Given the description of an element on the screen output the (x, y) to click on. 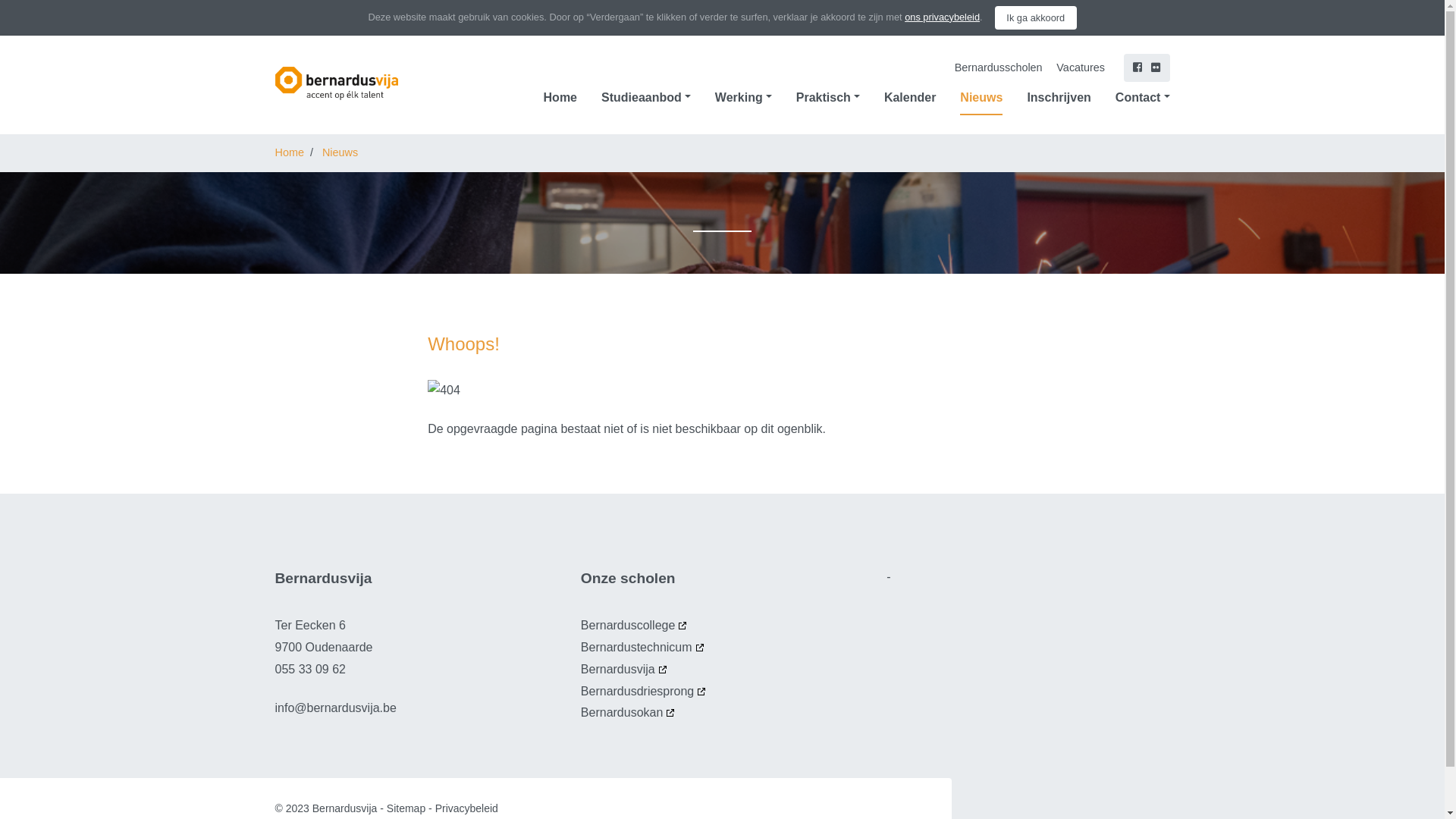
Bernardusdriesprong Element type: text (643, 690)
Bernardusscholen Element type: text (998, 67)
Kalender Element type: text (909, 97)
Bernarduscollege Element type: text (634, 624)
Werking Element type: text (743, 97)
Sitemap Element type: text (405, 808)
Home Element type: text (288, 152)
Home Element type: text (560, 97)
Contact Element type: text (1142, 97)
ons privacybeleid Element type: text (941, 16)
Bernardusvija Element type: text (624, 668)
Bernardusvija Element type: hover (359, 82)
Privacybeleid Element type: text (466, 808)
Inschrijven Element type: text (1058, 97)
Bernardusokan Element type: text (628, 712)
Ik ga akkoord Element type: text (1035, 17)
info@bernardusvija.be Element type: text (334, 707)
Flickr Element type: hover (1155, 67)
Nieuws Element type: text (339, 152)
Vacatures Element type: text (1080, 67)
facebook Element type: hover (1137, 67)
Bernardustechnicum Element type: text (643, 646)
Studieaanbod Element type: text (645, 97)
Nieuws Element type: text (981, 97)
Praktisch Element type: text (827, 97)
